Given the description of an element on the screen output the (x, y) to click on. 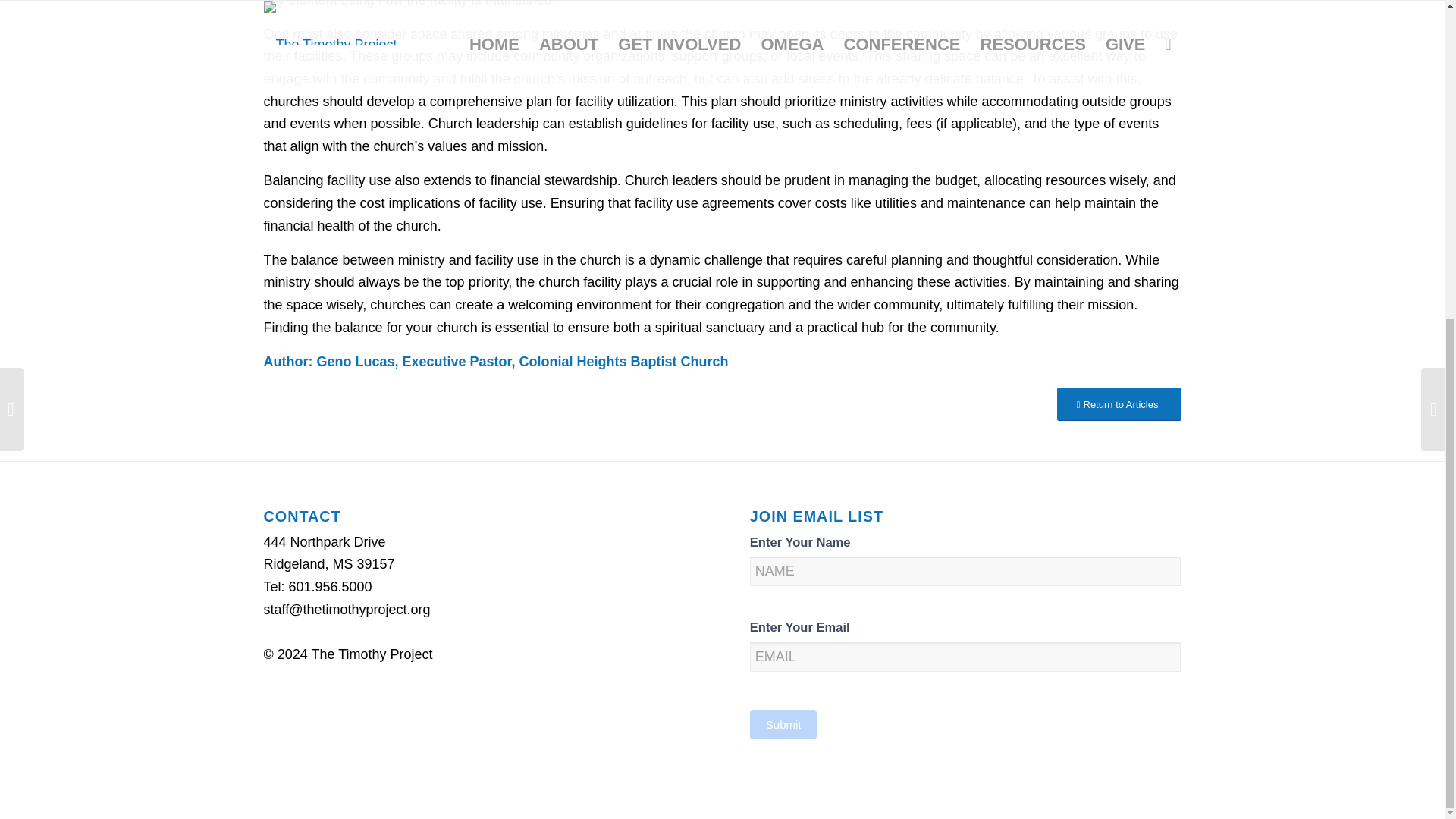
Return to Articles (1118, 404)
Submit (782, 724)
